Given the description of an element on the screen output the (x, y) to click on. 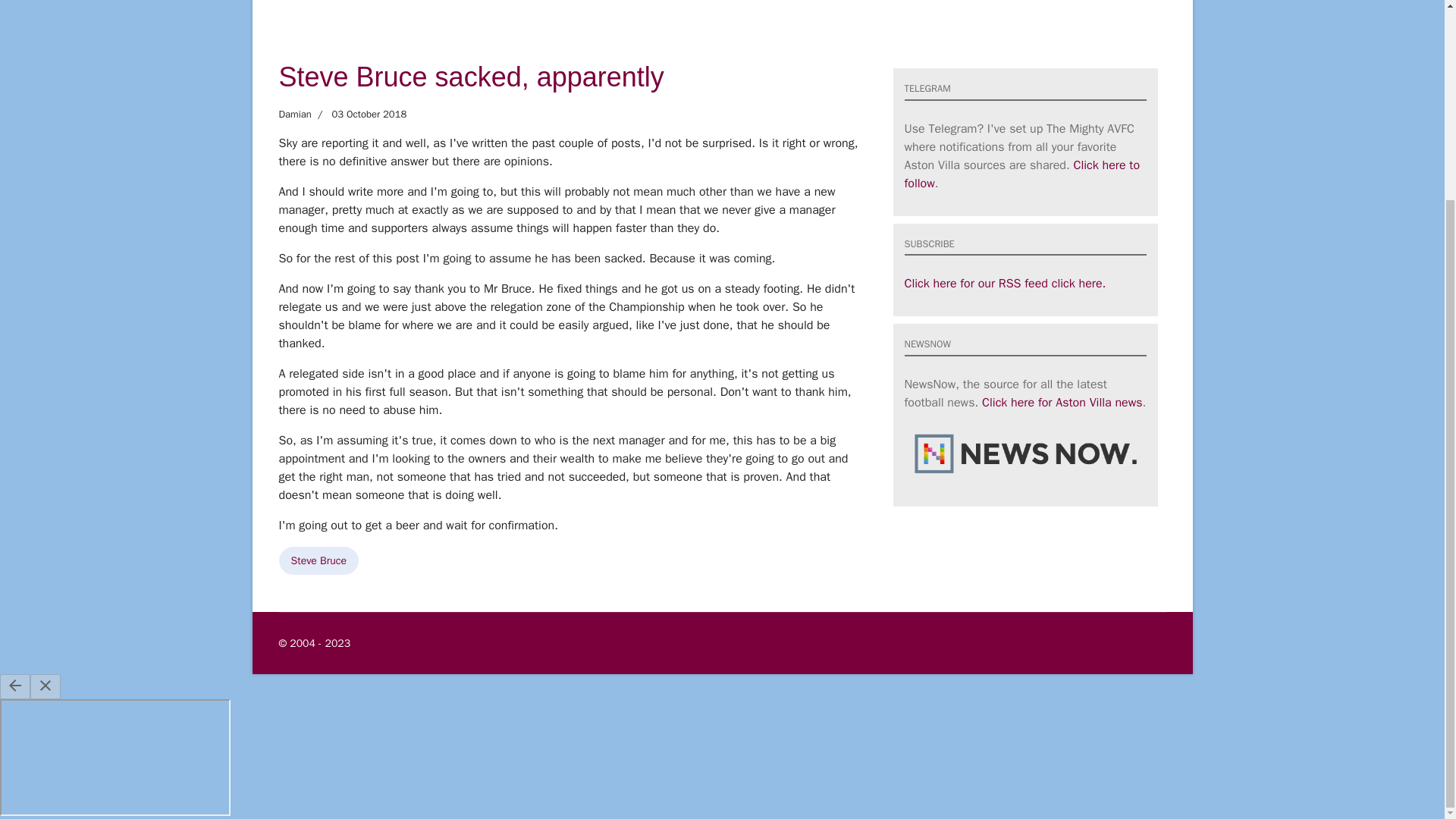
Written by: Damian (295, 114)
Click here for our RSS feed click here. (1004, 283)
Published: 03 October 2018 (358, 114)
Click here for Aston Villa news (1061, 402)
Click here to follow (1022, 174)
Steve Bruce (319, 560)
Aston Villa AVFC Blog (399, 643)
The Aston Villa Blog (399, 643)
Advertisement (721, 18)
